Given the description of an element on the screen output the (x, y) to click on. 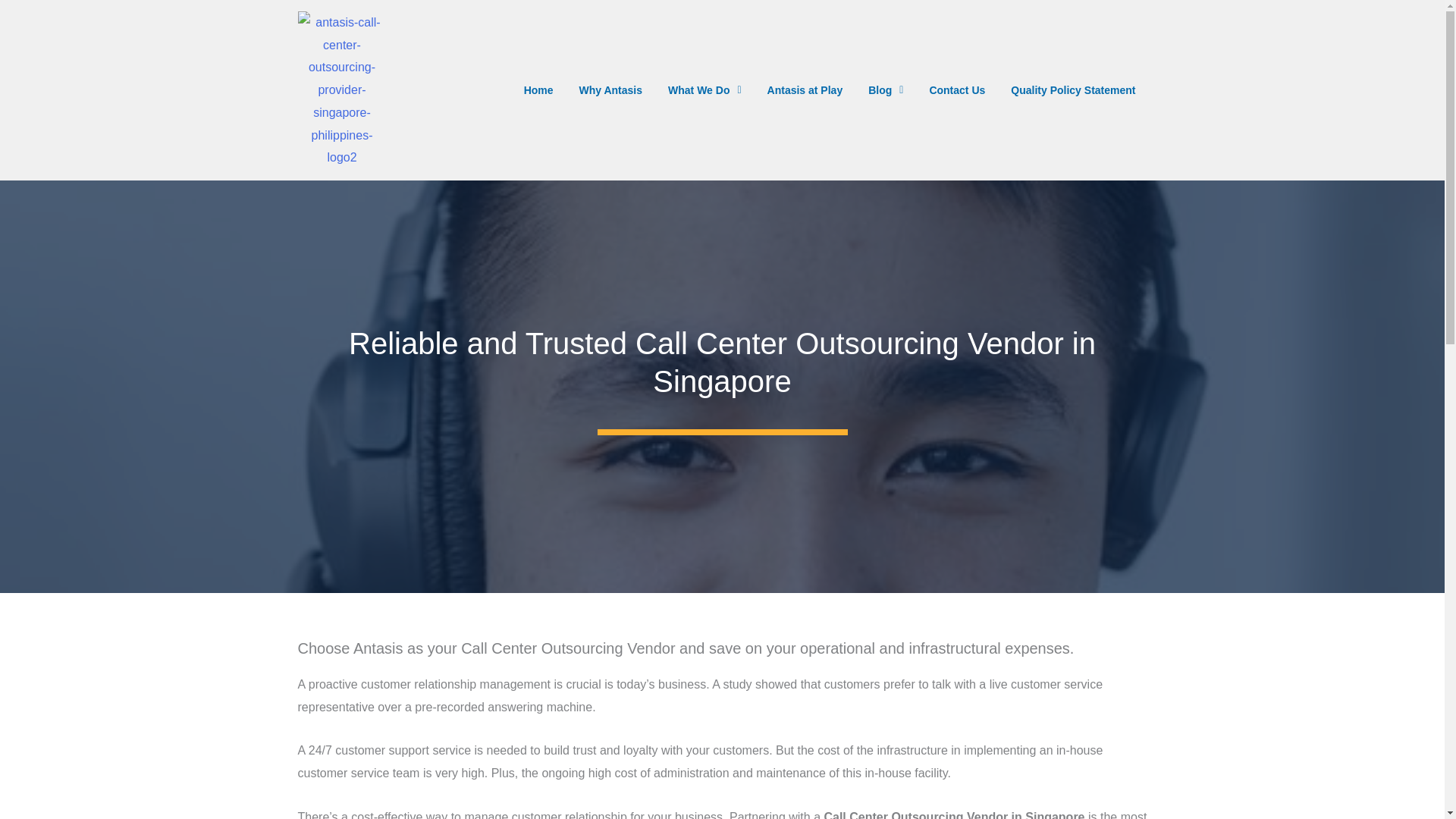
Home (538, 90)
Why Antasis (610, 90)
Antasis at Play (804, 90)
What We Do (704, 90)
Contact Us (956, 90)
Quality Policy Statement (1072, 90)
Blog (885, 90)
